Given the description of an element on the screen output the (x, y) to click on. 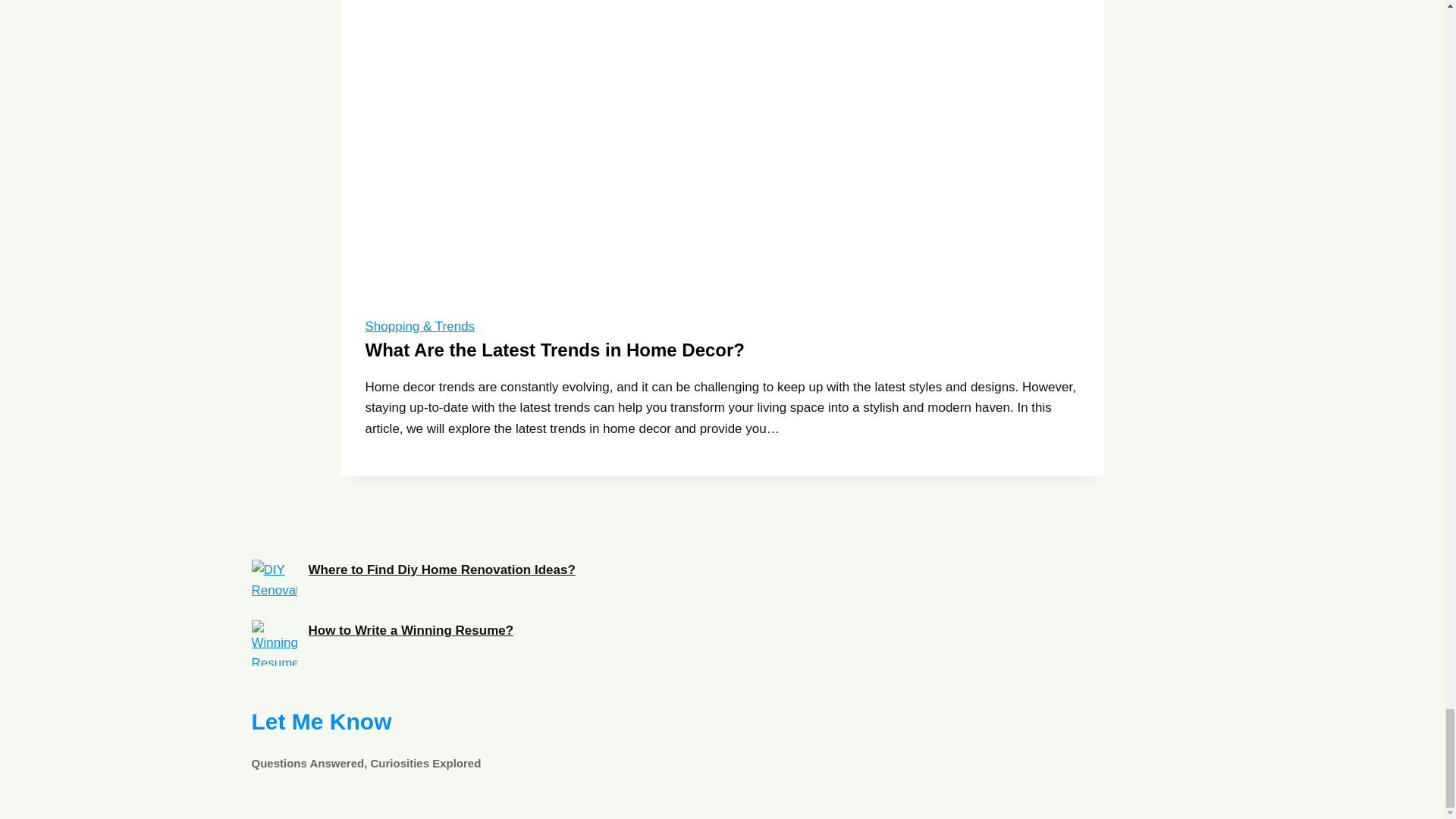
Where to Find Diy Home Renovation Ideas? (274, 582)
Where to Find Diy Home Renovation Ideas? (441, 569)
What Are the Latest Trends in Home Decor? (555, 349)
How to Write a Winning Resume? (722, 738)
How to Write a Winning Resume? (410, 630)
